Given the description of an element on the screen output the (x, y) to click on. 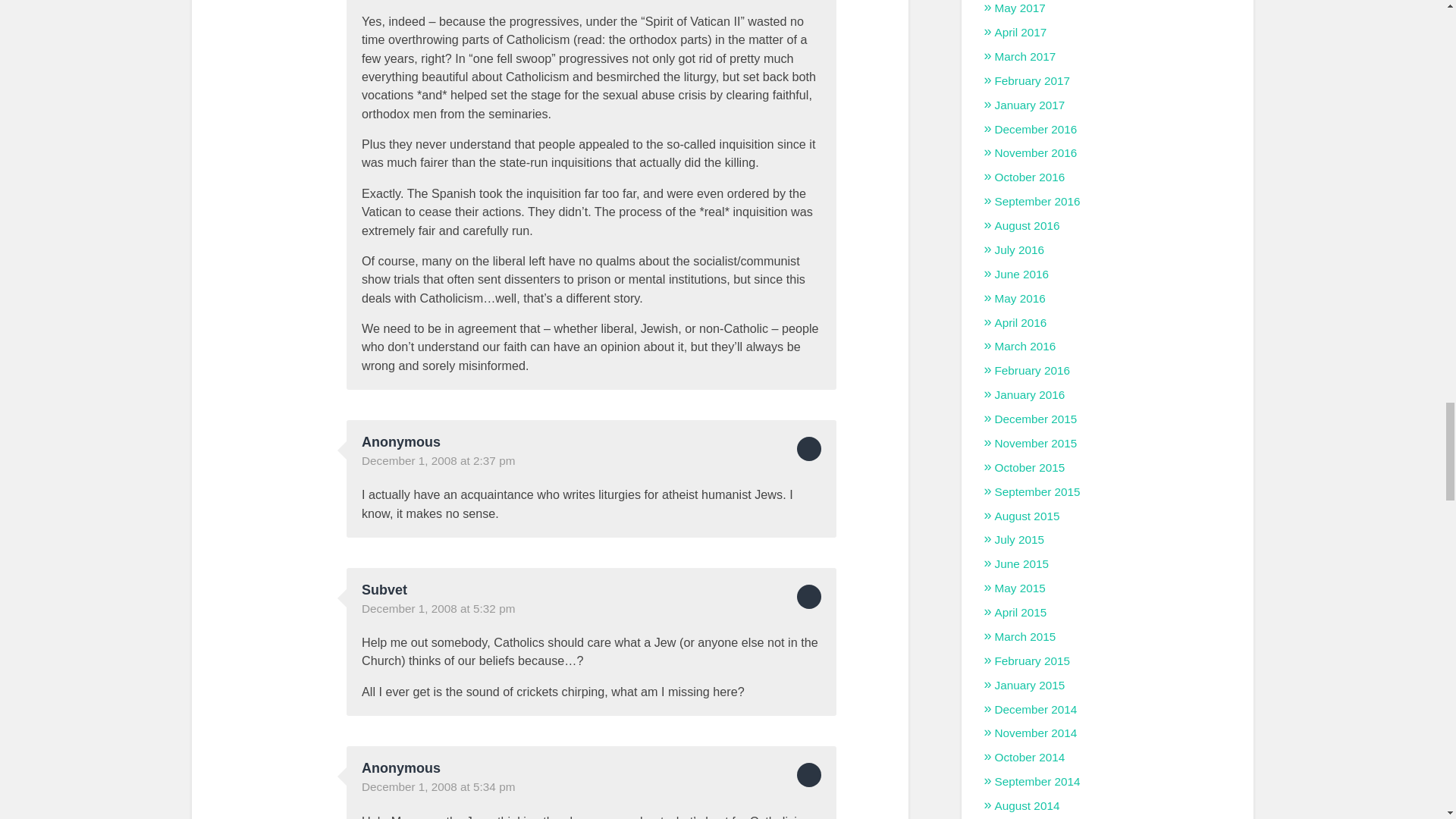
Reply (808, 596)
Reply (808, 448)
December 1, 2008 at 5:32 pm (438, 608)
December 1, 2008 at 2:37 pm (438, 460)
December 1, 2008 at 5:34 pm (438, 786)
